Given the description of an element on the screen output the (x, y) to click on. 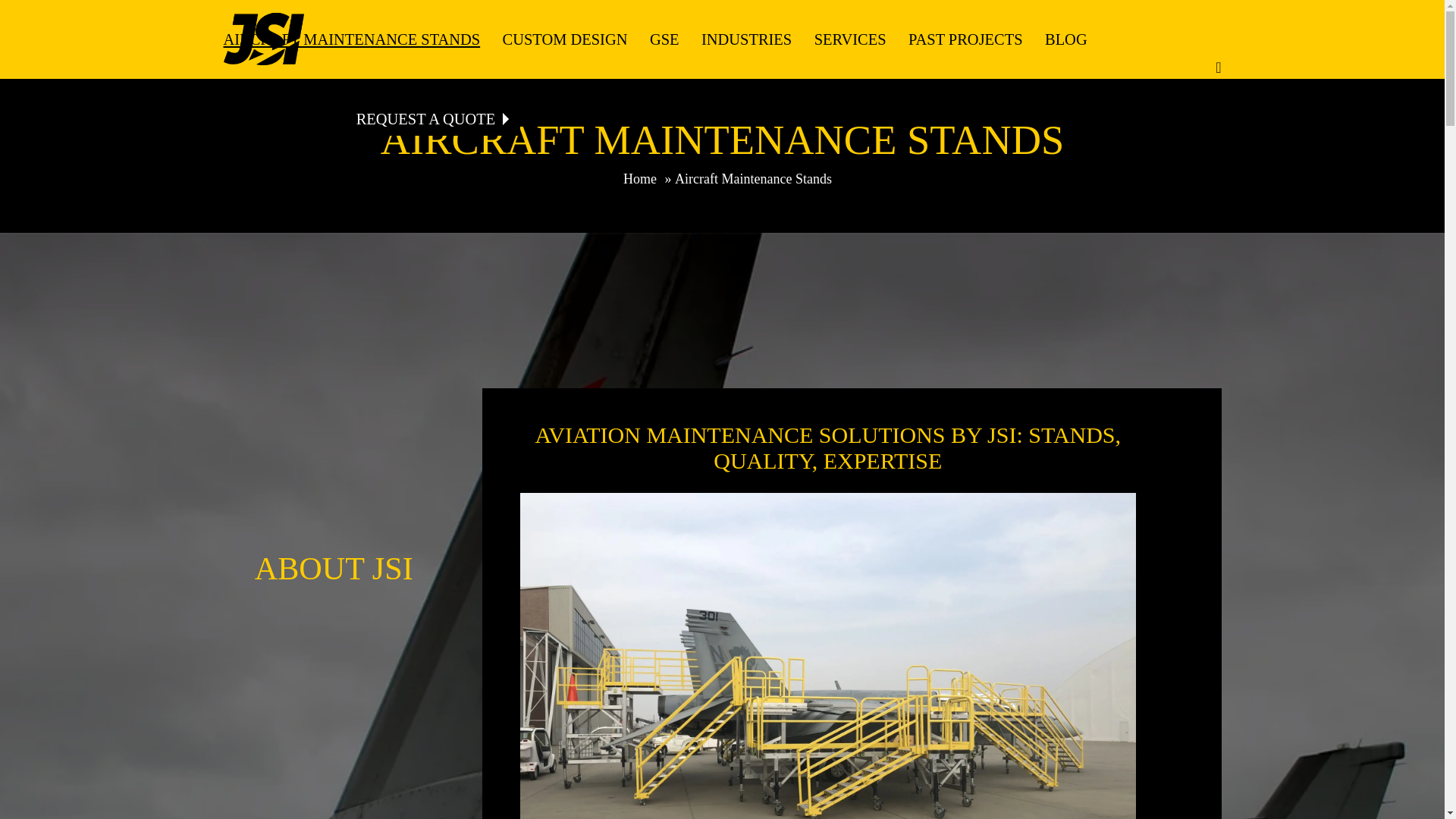
AIRCRAFT MAINTENANCE STANDS (351, 39)
